Given the description of an element on the screen output the (x, y) to click on. 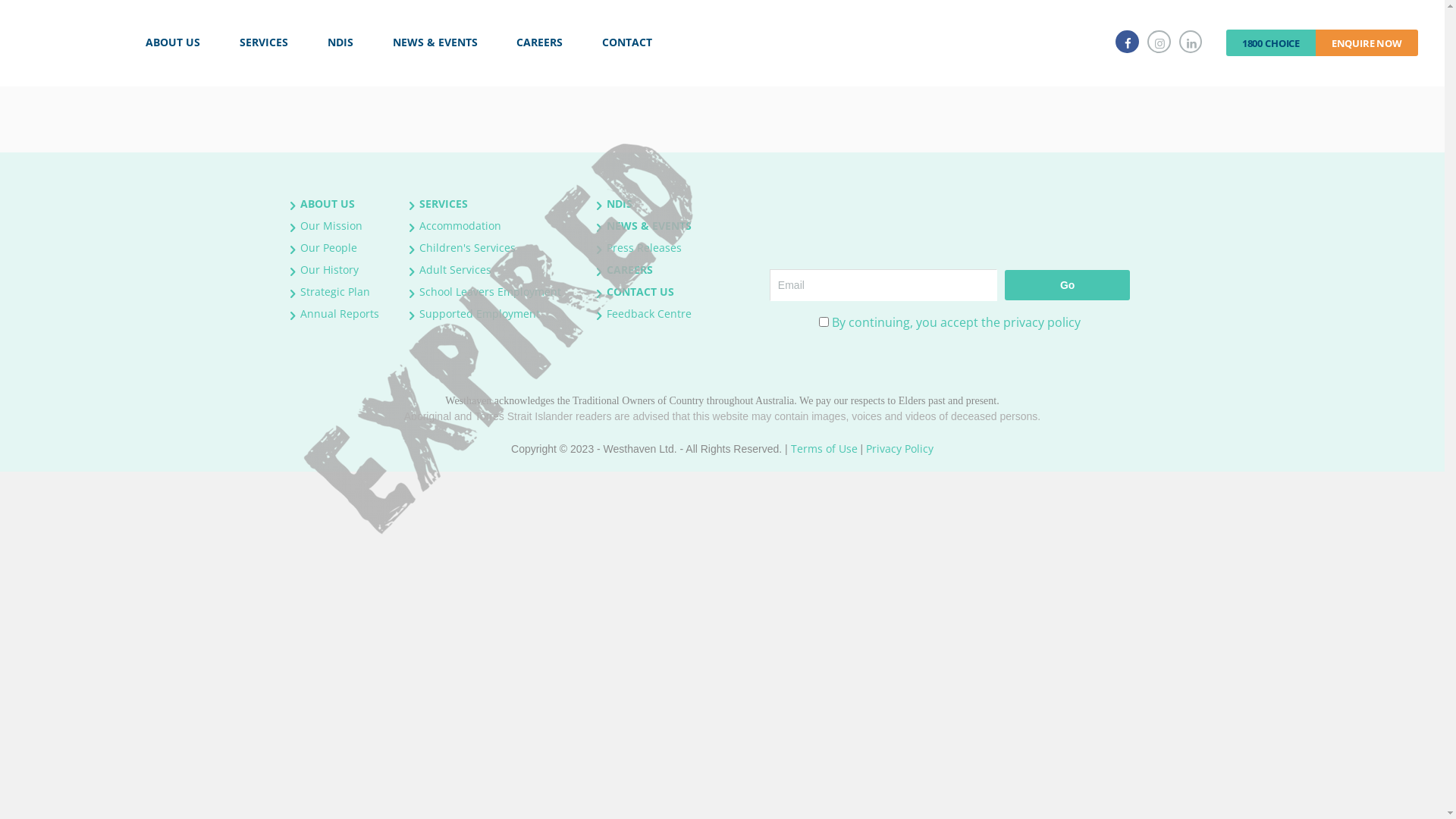
Our People Element type: text (328, 247)
Terms of Use Element type: text (823, 448)
By continuing, you accept the privacy policy Element type: text (955, 321)
Our Mission Element type: text (331, 225)
ENQUIRE NOW Element type: text (1366, 42)
Press Releases Element type: text (643, 247)
CAREERS Element type: text (540, 42)
Accommodation Element type: text (460, 225)
ABOUT US Element type: text (327, 203)
Children's Services Element type: text (467, 247)
CONTACT Element type: text (626, 42)
CAREERS Element type: text (629, 269)
SERVICES Element type: text (443, 203)
SERVICES Element type: text (263, 42)
NEWS & EVENTS Element type: text (435, 42)
Go Element type: text (1066, 284)
NEWS & EVENTS Element type: text (648, 225)
NDIS Element type: text (619, 203)
CONTACT US Element type: text (640, 291)
Strategic Plan Element type: text (335, 291)
Annual Reports Element type: text (339, 313)
Privacy Policy Element type: text (899, 448)
Adult Services Element type: text (455, 269)
1800 CHOICE Element type: text (1270, 42)
School Leavers Employment Element type: text (490, 291)
ABOUT US Element type: text (172, 42)
Supported Employment Element type: text (479, 313)
Feedback Centre Element type: text (648, 313)
NDIS Element type: text (340, 42)
Our History Element type: text (329, 269)
